Given the description of an element on the screen output the (x, y) to click on. 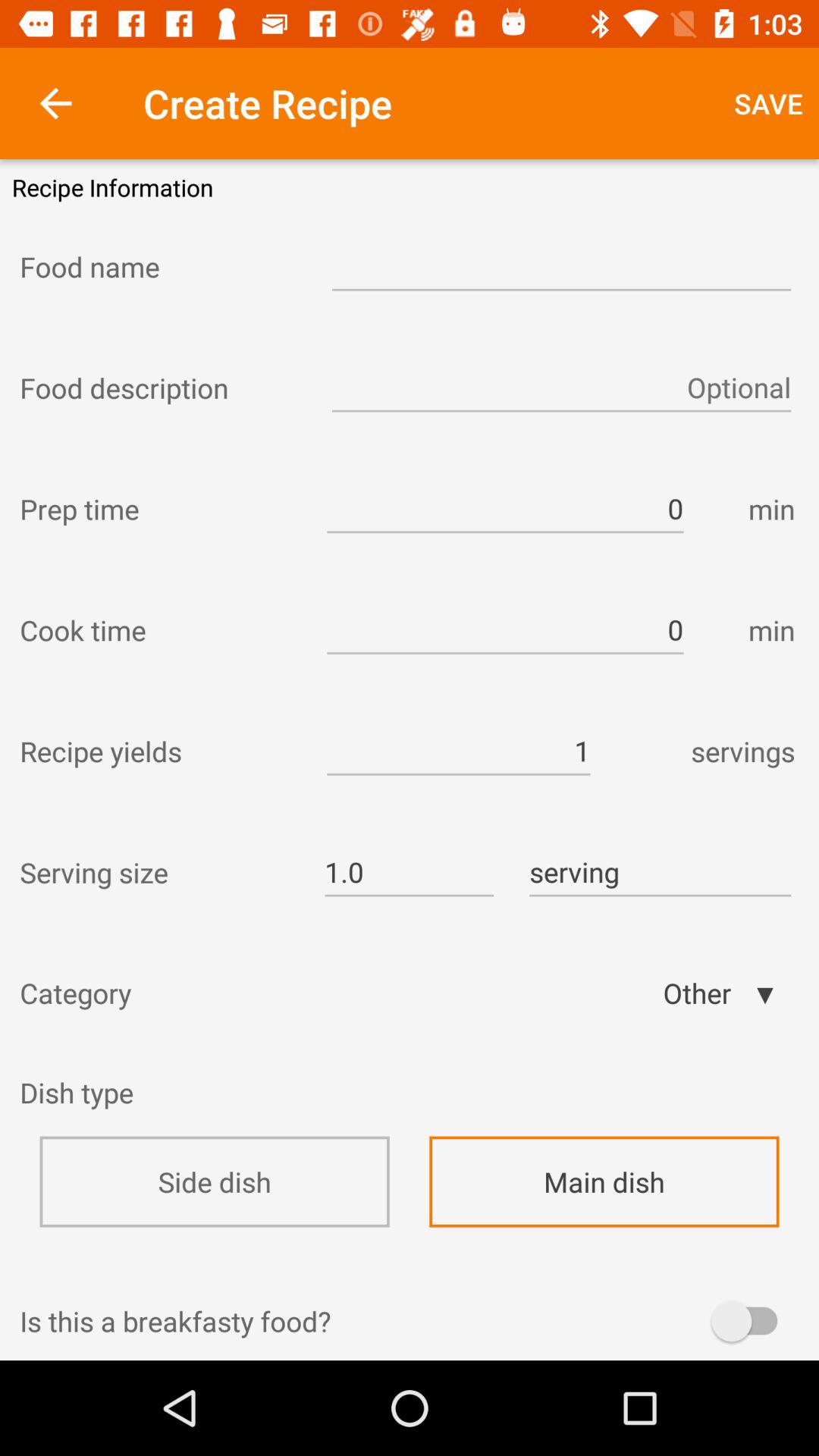
turn off food name (161, 266)
